Given the description of an element on the screen output the (x, y) to click on. 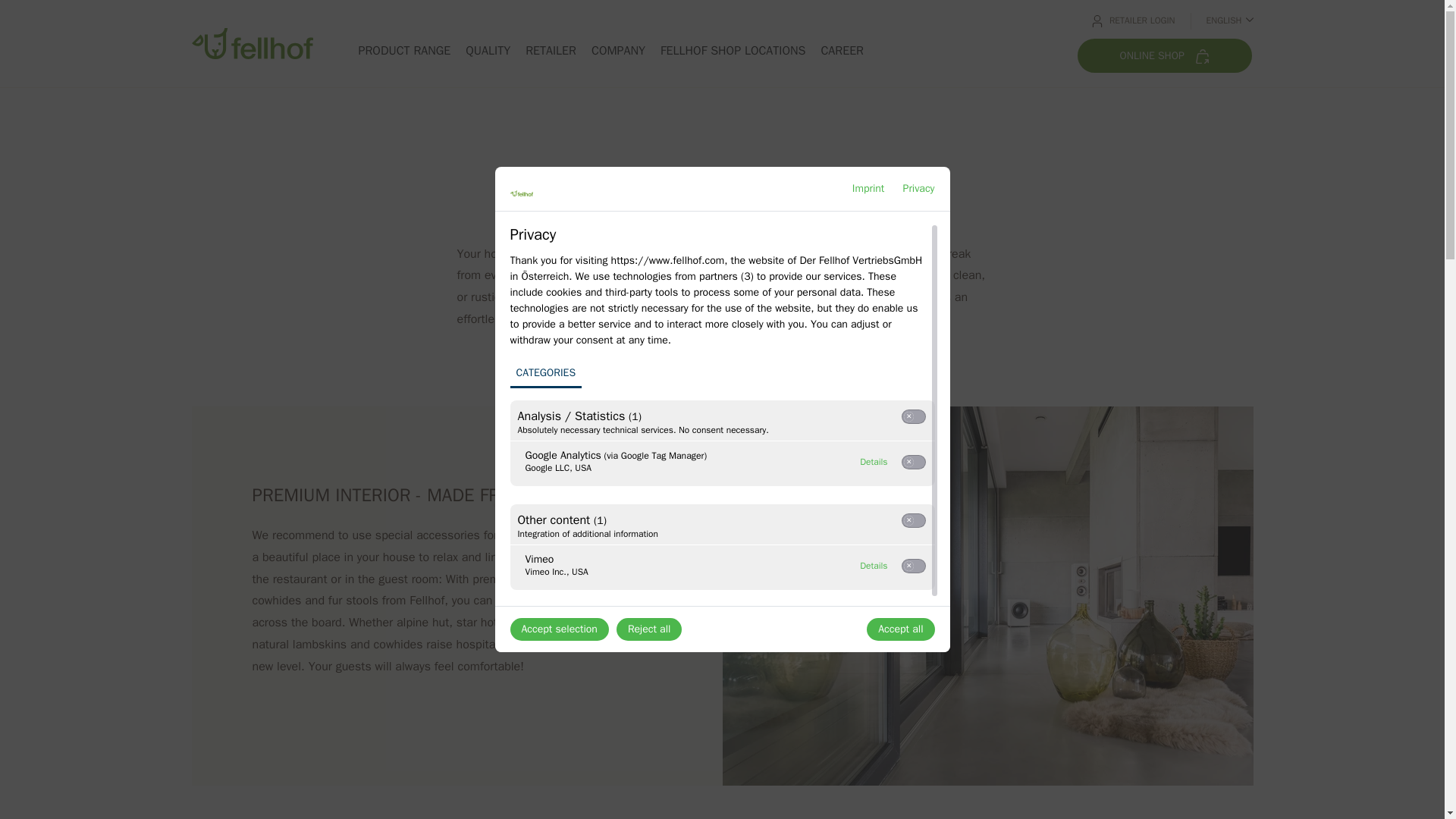
Imprint (873, 461)
RETAILER (868, 187)
Zum Inhalt (550, 50)
Vimeo (873, 565)
Privacy (873, 565)
QUALITY (558, 629)
FELLHOF SHOP LOCATIONS (918, 187)
Accept all (488, 50)
PRODUCT RANGE (733, 50)
Link to privacy policy (900, 629)
Reject all (403, 50)
CATEGORIES (918, 187)
